Given the description of an element on the screen output the (x, y) to click on. 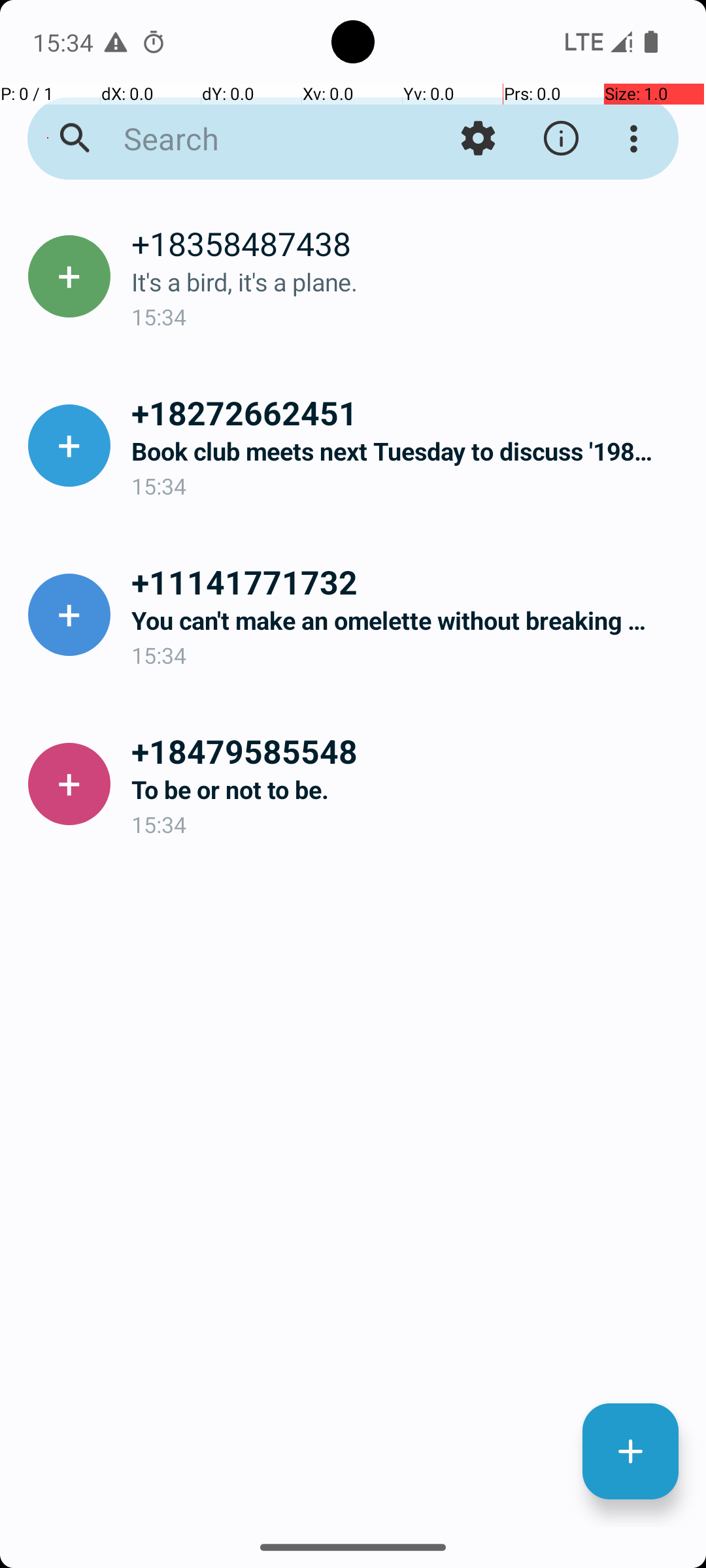
+18358487438 Element type: android.widget.TextView (408, 242)
+18272662451 Element type: android.widget.TextView (408, 412)
Book club meets next Tuesday to discuss '1984'. Element type: android.widget.TextView (408, 450)
+11141771732 Element type: android.widget.TextView (408, 581)
You can't make an omelette without breaking a few eggs. Element type: android.widget.TextView (408, 620)
+18479585548 Element type: android.widget.TextView (408, 750)
To be or not to be. Element type: android.widget.TextView (408, 789)
